Given the description of an element on the screen output the (x, y) to click on. 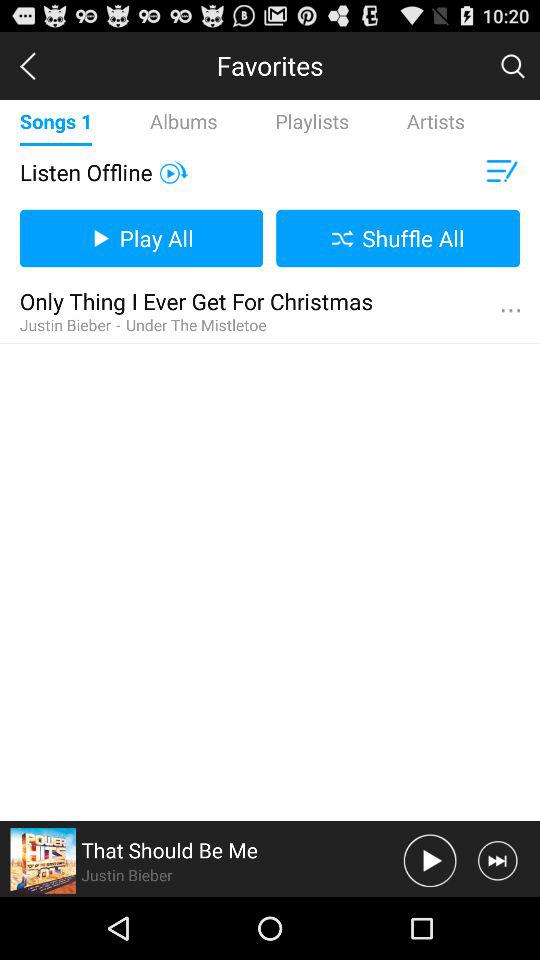
go to video on buton (173, 171)
